Given the description of an element on the screen output the (x, y) to click on. 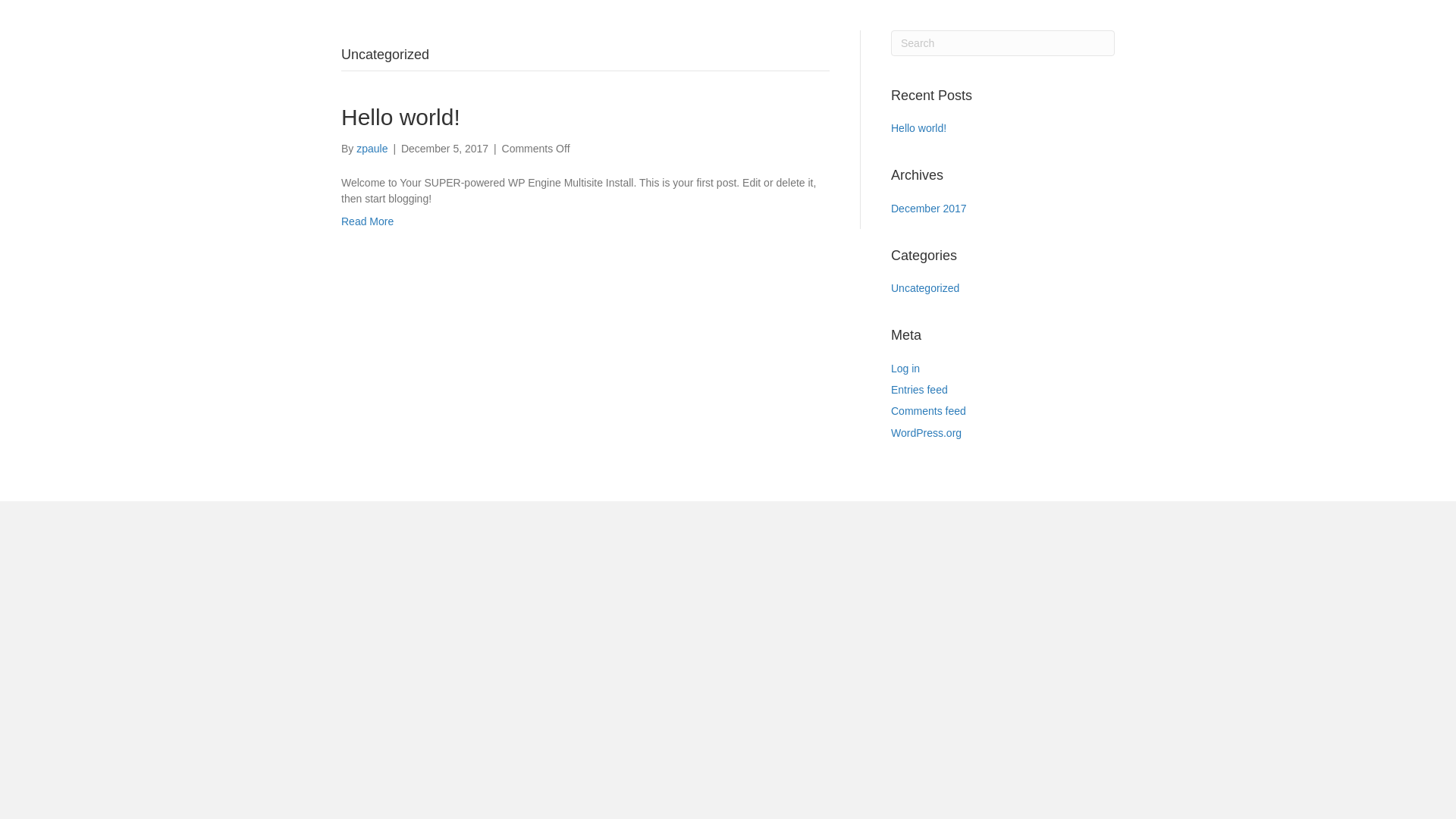
Hello world! Element type: text (918, 128)
Uncategorized Element type: text (925, 288)
Comments feed Element type: text (928, 410)
Read More Element type: text (367, 221)
Entries feed Element type: text (919, 389)
WordPress.org Element type: text (926, 432)
December 2017 Element type: text (928, 208)
Log in Element type: text (905, 368)
Hello world! Element type: text (400, 116)
zpaule Element type: text (371, 148)
Type and press Enter to search. Element type: hover (1002, 43)
